Given the description of an element on the screen output the (x, y) to click on. 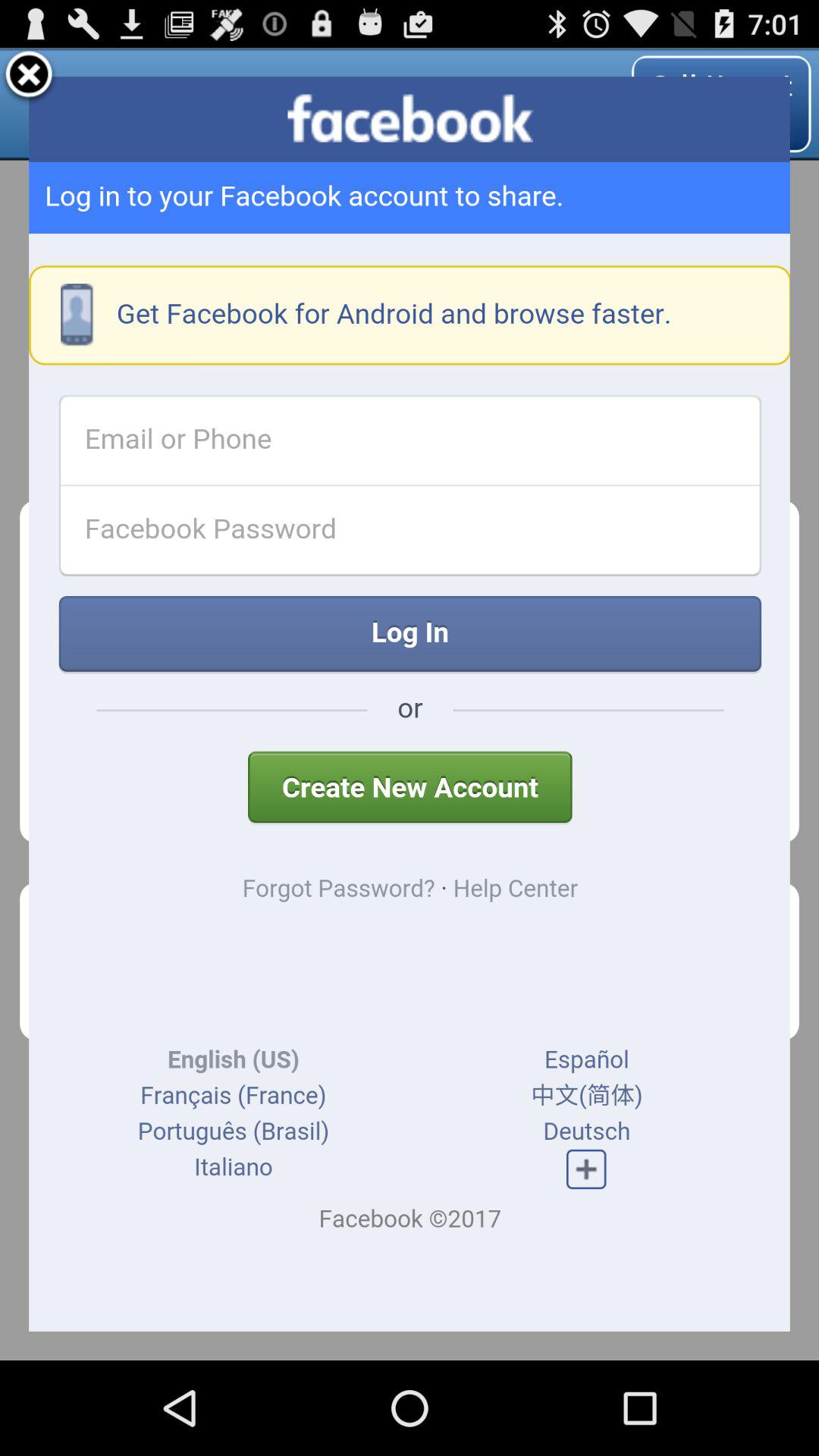
close screen (29, 76)
